Given the description of an element on the screen output the (x, y) to click on. 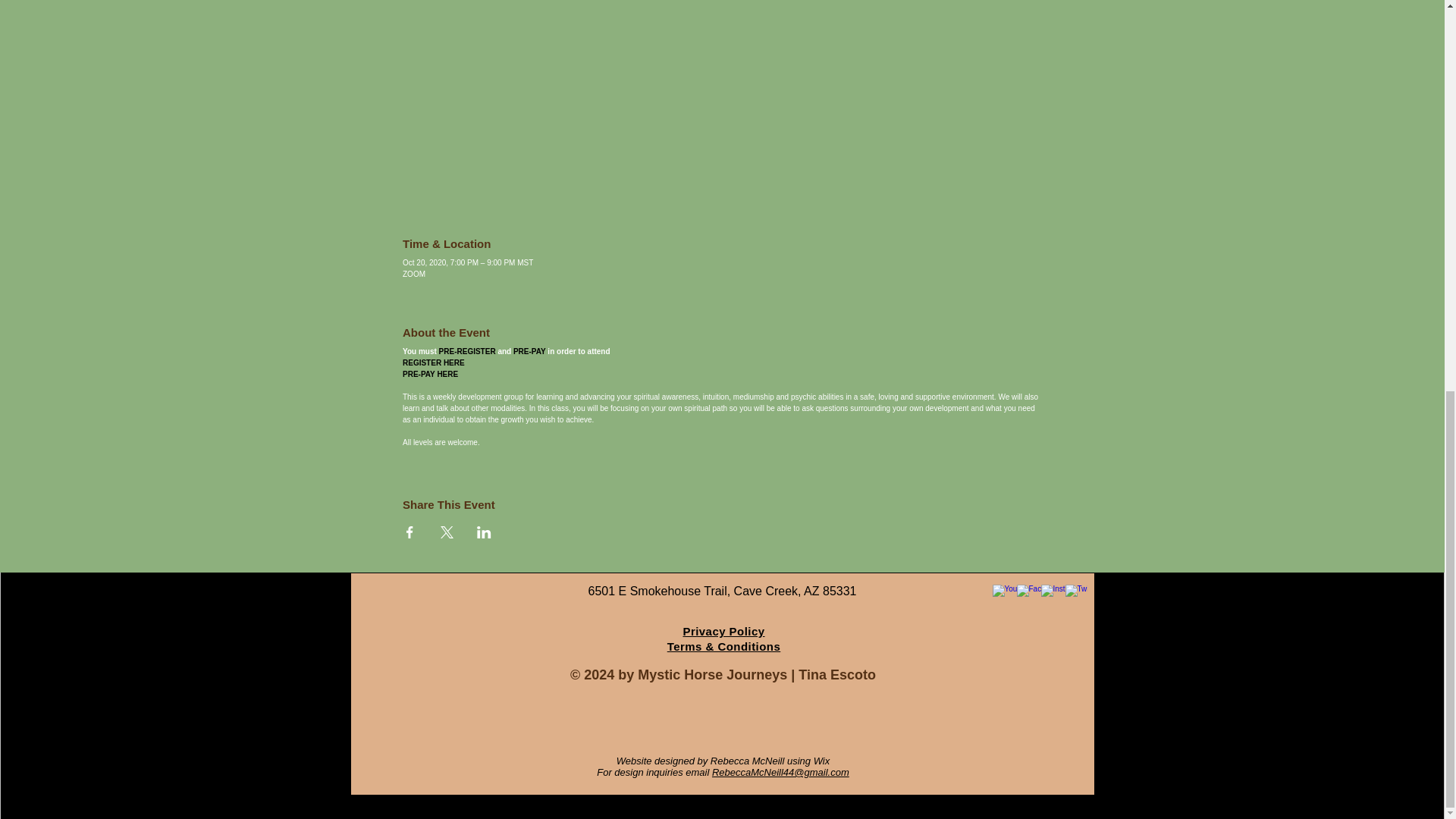
PRE-REGISTER (467, 351)
PRE-PAY (529, 351)
PRE-PAY HERE (430, 374)
Rebecca McNeill using Wix (769, 760)
Privacy Policy (723, 631)
REGISTER HERE (433, 362)
